Given the description of an element on the screen output the (x, y) to click on. 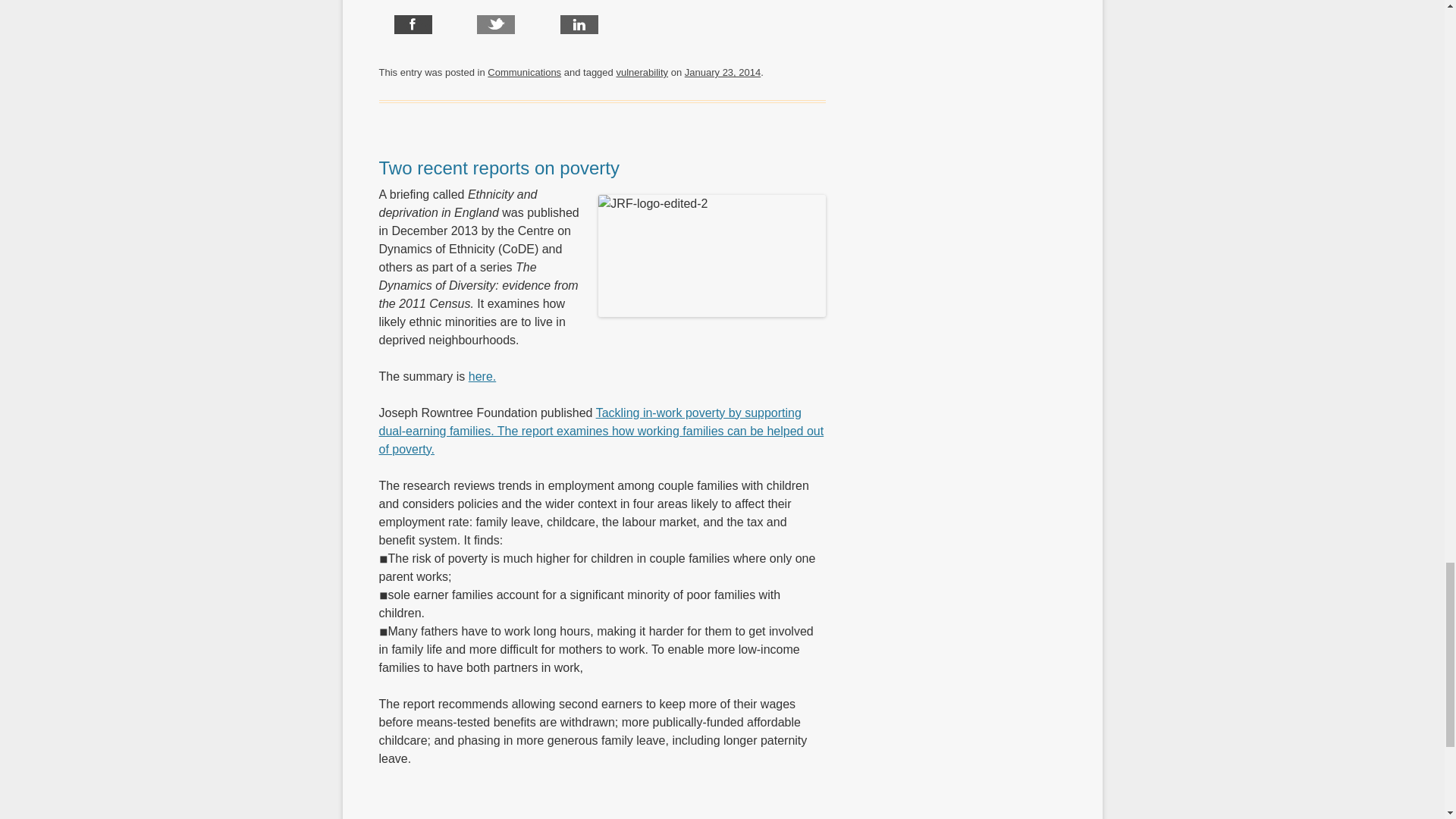
3:09 pm (722, 71)
